Given the description of an element on the screen output the (x, y) to click on. 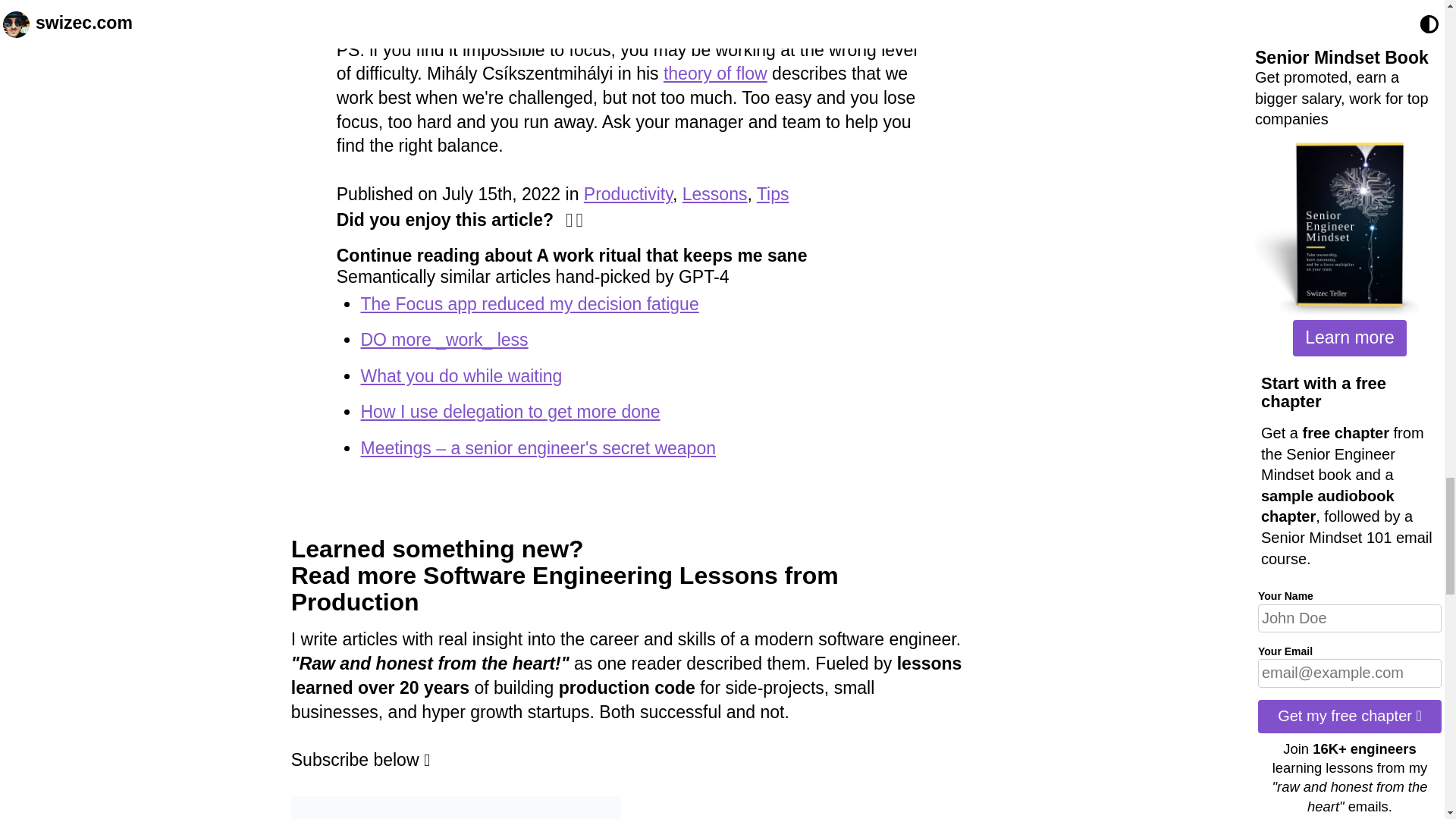
theory of flow (715, 73)
Tips (773, 193)
Lessons (715, 193)
Productivity (627, 193)
How I use delegation to get more done (509, 411)
What you do while waiting (460, 375)
The Focus app reduced my decision fatigue (528, 303)
